Given the description of an element on the screen output the (x, y) to click on. 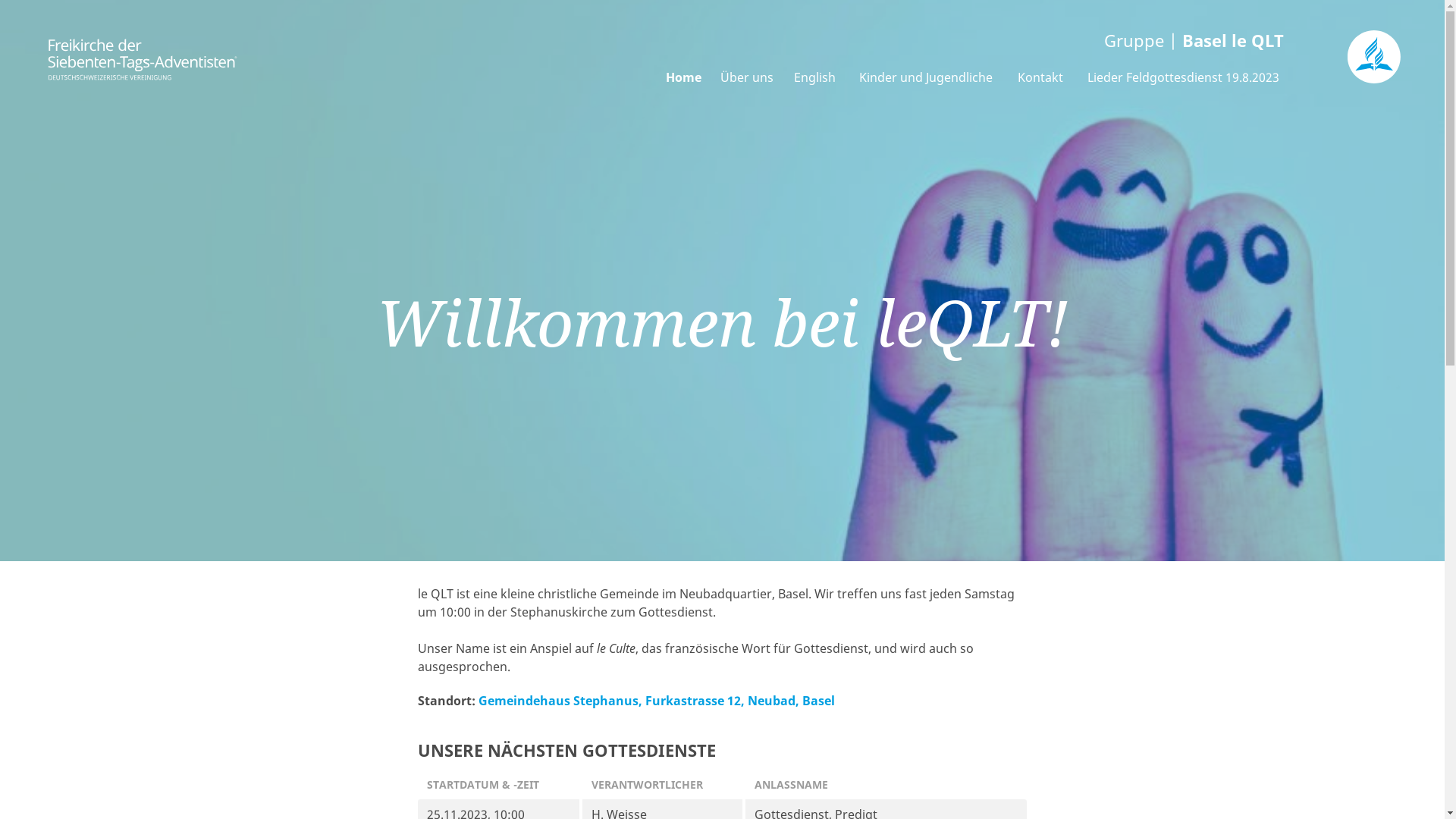
English Element type: text (814, 77)
Lieder Feldgottesdienst 19.8.2023 Element type: text (1183, 77)
Gemeindehaus Stephanus, Furkastrasse 12, Neubad, Basel Element type: text (656, 700)
Gruppe | Element type: text (793, 40)
Home Element type: text (683, 77)
Kinder und Jugendliche Element type: text (926, 77)
Kontakt Element type: text (1040, 77)
